Given the description of an element on the screen output the (x, y) to click on. 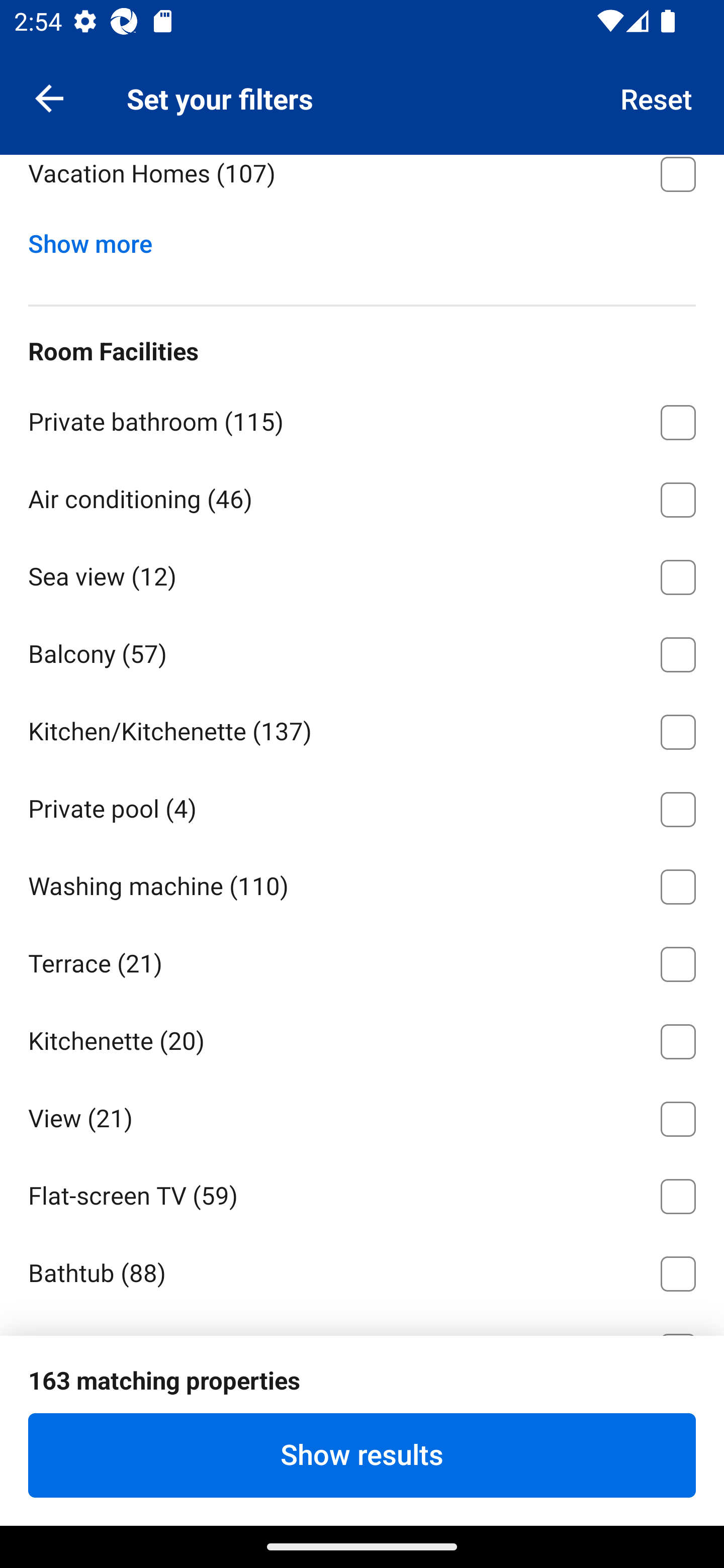
Navigate up (49, 97)
Apartments ⁦(9) (361, 92)
Reset (656, 97)
Vacation Homes ⁦(107) (361, 185)
Show more (97, 238)
Private bathroom ⁦(115) (361, 419)
Air conditioning ⁦(46) (361, 495)
Sea view ⁦(12) (361, 573)
Balcony ⁦(57) (361, 651)
Kitchen/Kitchenette ⁦(137) (361, 727)
Private pool ⁦(4) (361, 805)
Washing machine ⁦(110) (361, 883)
Terrace ⁦(21) (361, 960)
Kitchenette ⁦(20) (361, 1038)
View ⁦(21) (361, 1115)
Flat-screen TV ⁦(59) (361, 1193)
Bathtub ⁦(88) (361, 1270)
Show results (361, 1454)
